Given the description of an element on the screen output the (x, y) to click on. 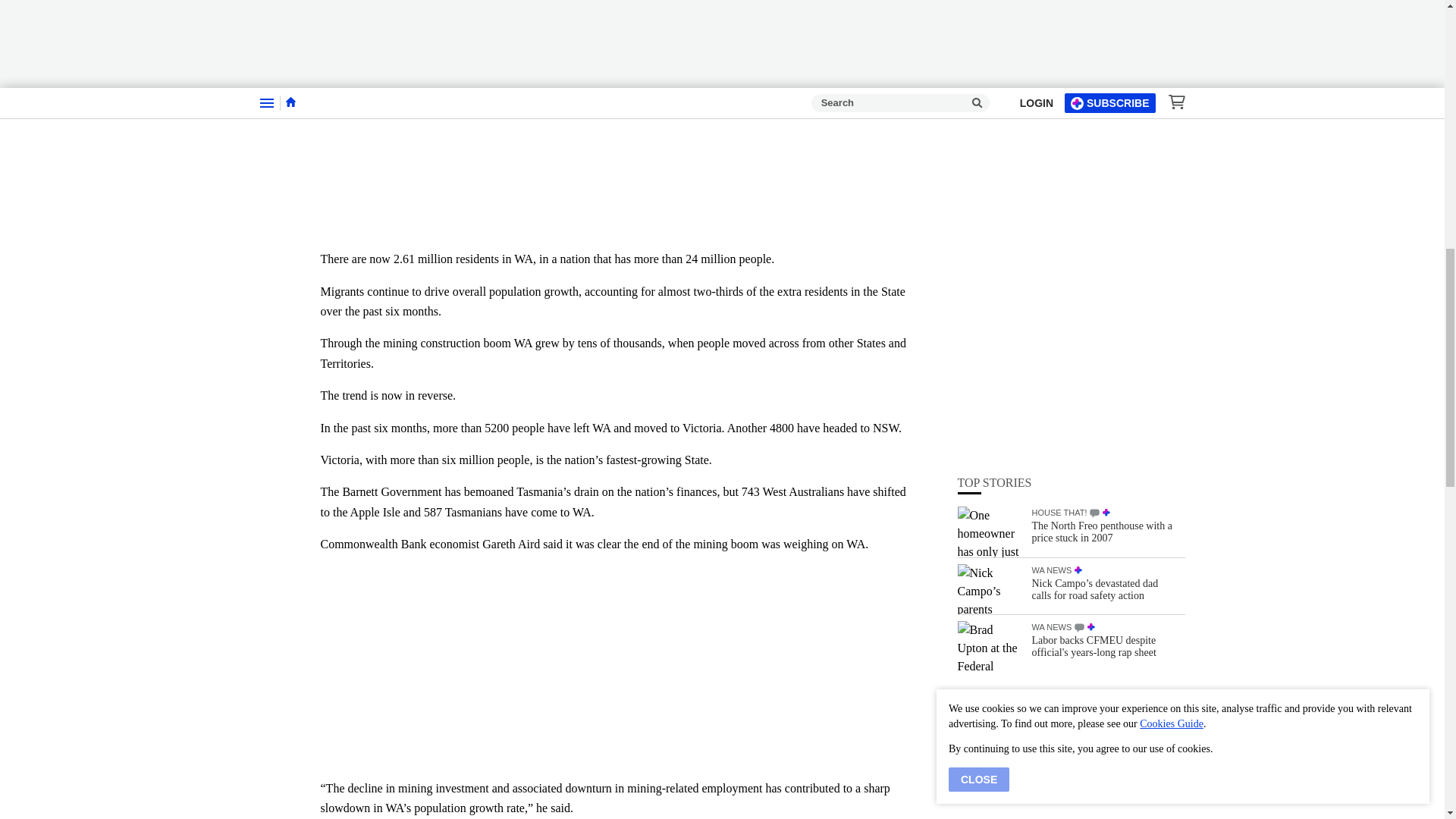
PREMIUM (1078, 168)
COMMENTS (1094, 112)
PREMIUM (1091, 225)
COMMENTS (1079, 225)
PREMIUM (1106, 111)
